Given the description of an element on the screen output the (x, y) to click on. 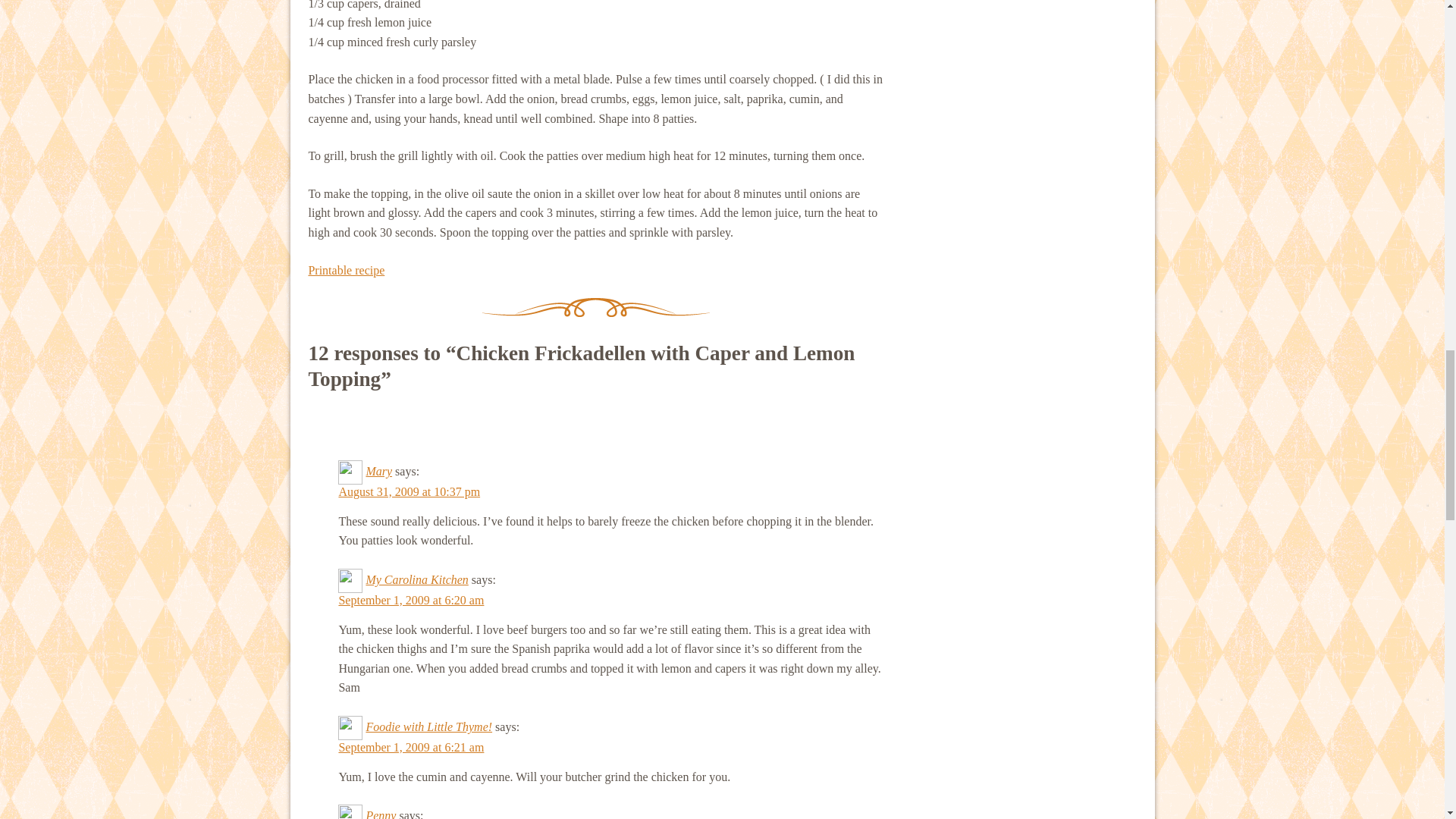
My Carolina Kitchen (416, 579)
Foodie with Little Thyme! (428, 726)
September 1, 2009 at 6:21 am (410, 747)
August 31, 2009 at 10:37 pm (408, 491)
Penny (380, 814)
Mary (378, 471)
September 1, 2009 at 6:20 am (410, 599)
Printable recipe (345, 269)
